Given the description of an element on the screen output the (x, y) to click on. 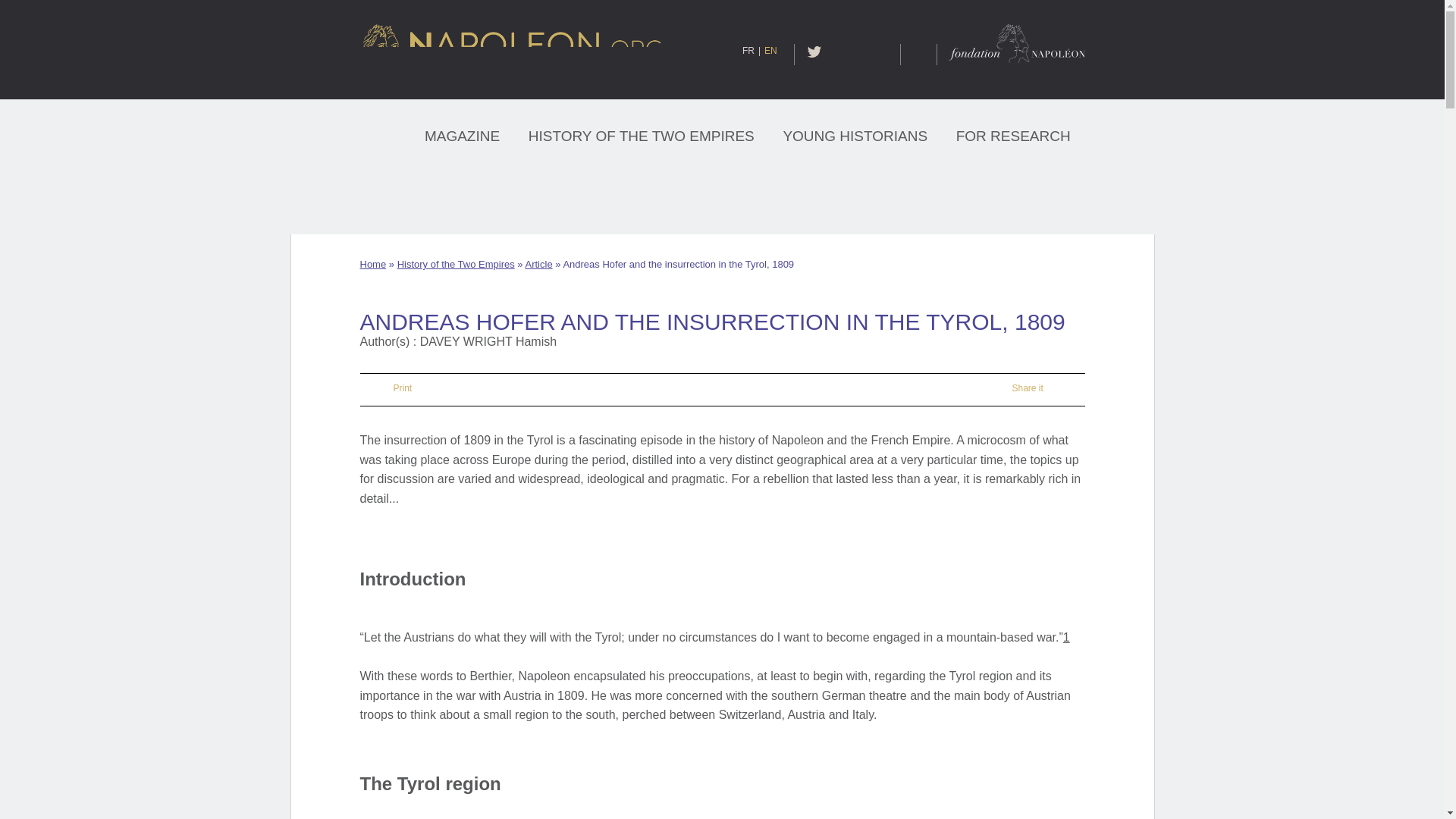
French (753, 50)
YOUTUBE (857, 52)
HOME (370, 134)
SEARCH (917, 54)
FACEBOOK (835, 51)
HISTORY OF THE TWO EMPIRES (640, 133)
INSTAGRAM (884, 51)
YOUNG HISTORIANS (855, 133)
TWITTER (814, 51)
English (770, 50)
